Given the description of an element on the screen output the (x, y) to click on. 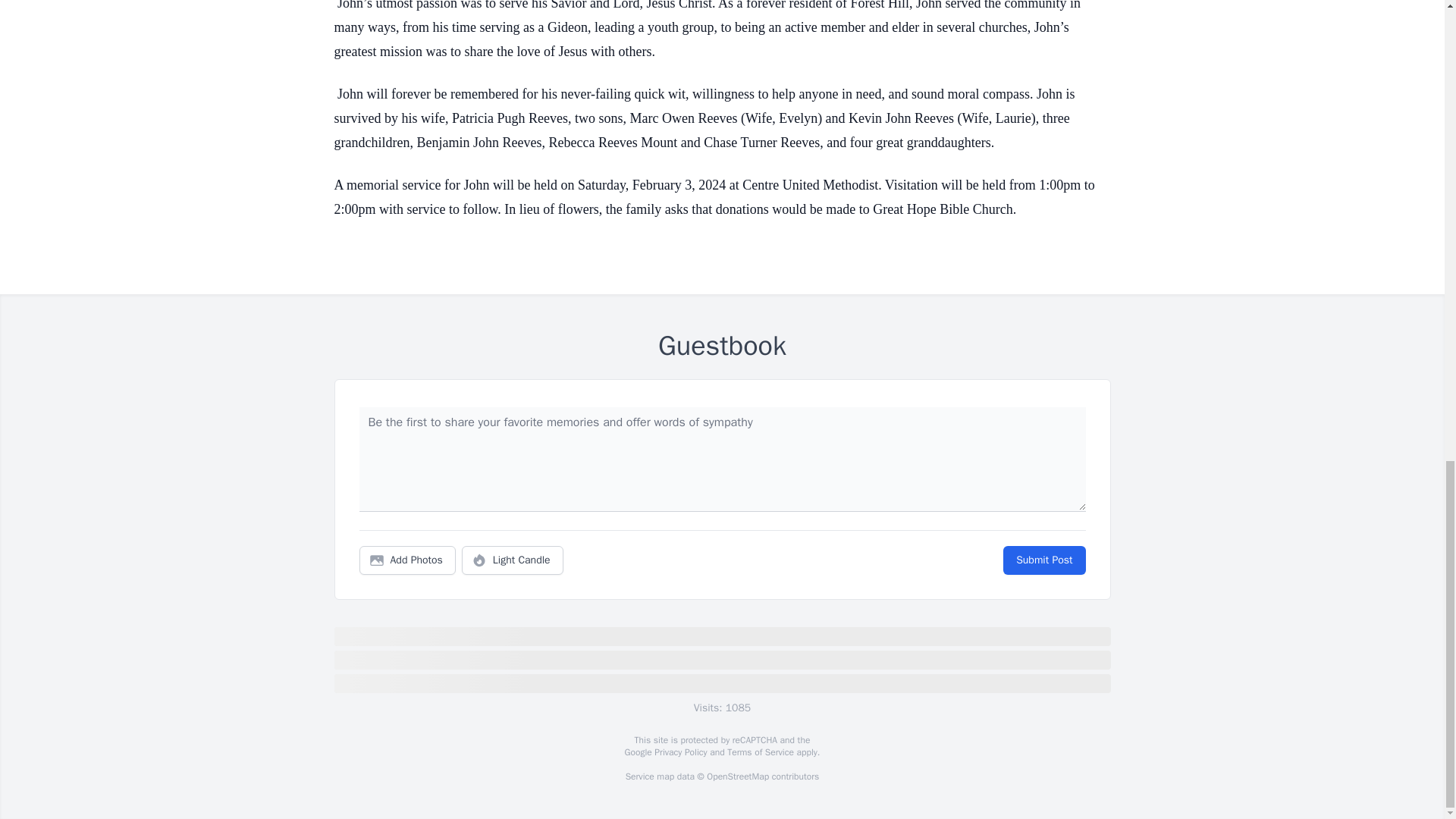
Terms of Service (759, 752)
Add Photos (407, 560)
Light Candle (512, 560)
Privacy Policy (679, 752)
OpenStreetMap (737, 776)
Submit Post (1043, 560)
